Given the description of an element on the screen output the (x, y) to click on. 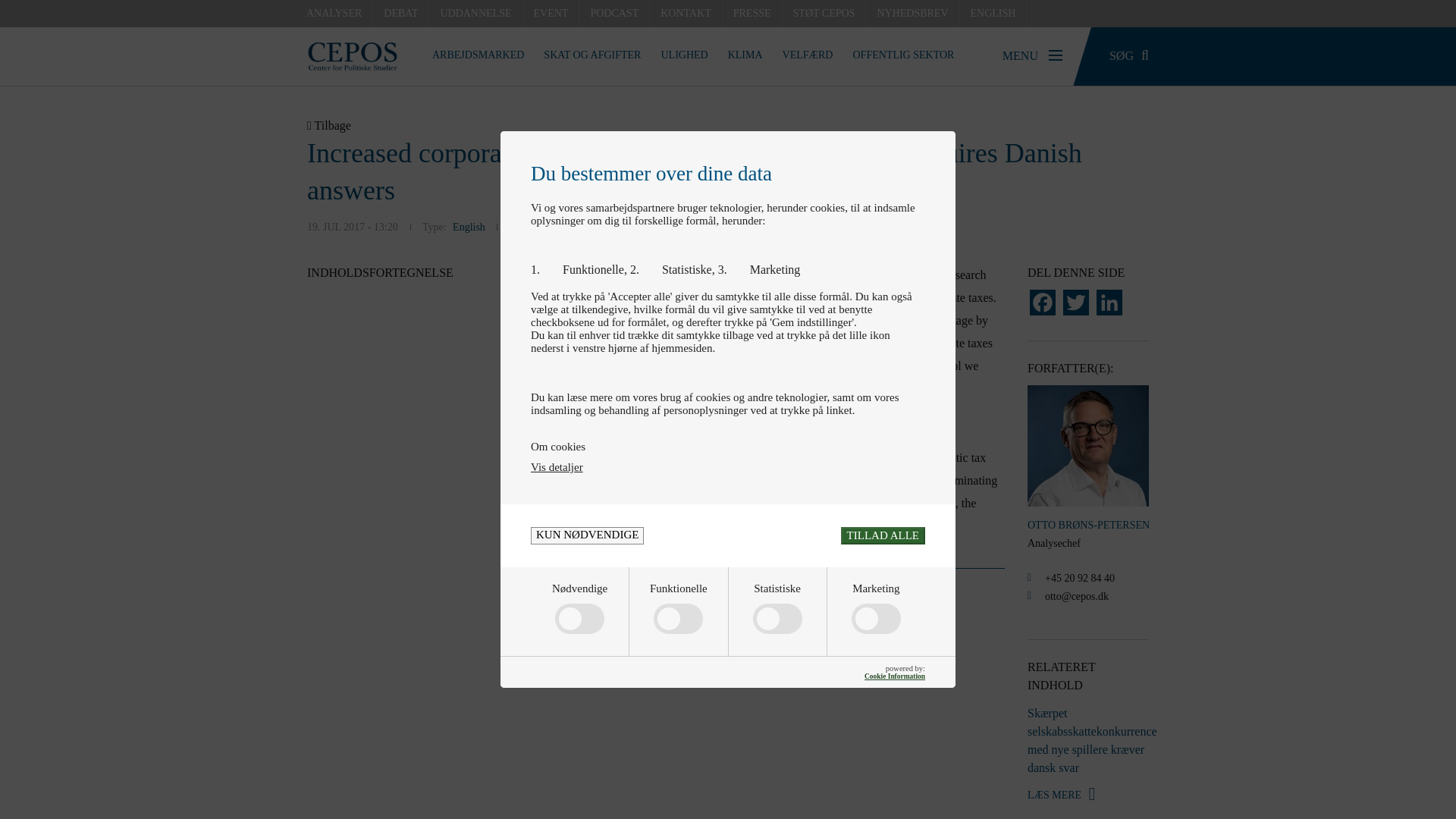
Om cookies (727, 446)
Vis detaljer (557, 467)
Fodnoter (763, 593)
